Given the description of an element on the screen output the (x, y) to click on. 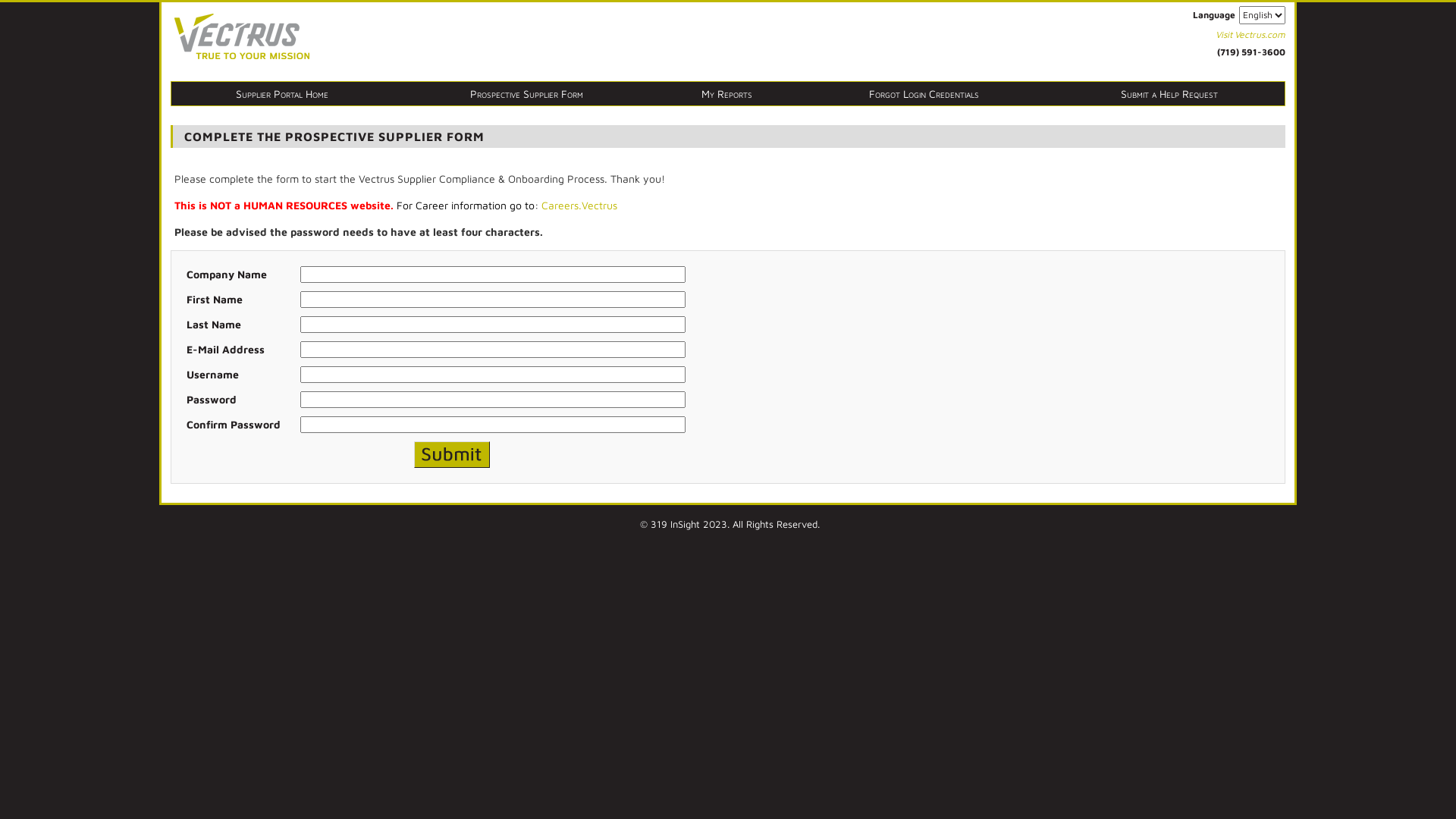
319 InSight Element type: text (674, 523)
Visit Vectrus.com Element type: text (1250, 34)
Prospective Supplier Form Element type: text (527, 93)
Submit a Help Request Element type: text (1169, 93)
Careers.Vectrus Element type: text (579, 204)
Supplier Portal Home Element type: text (282, 93)
My Reports Element type: text (726, 93)
Forgot Login Credentials Element type: text (924, 93)
